Given the description of an element on the screen output the (x, y) to click on. 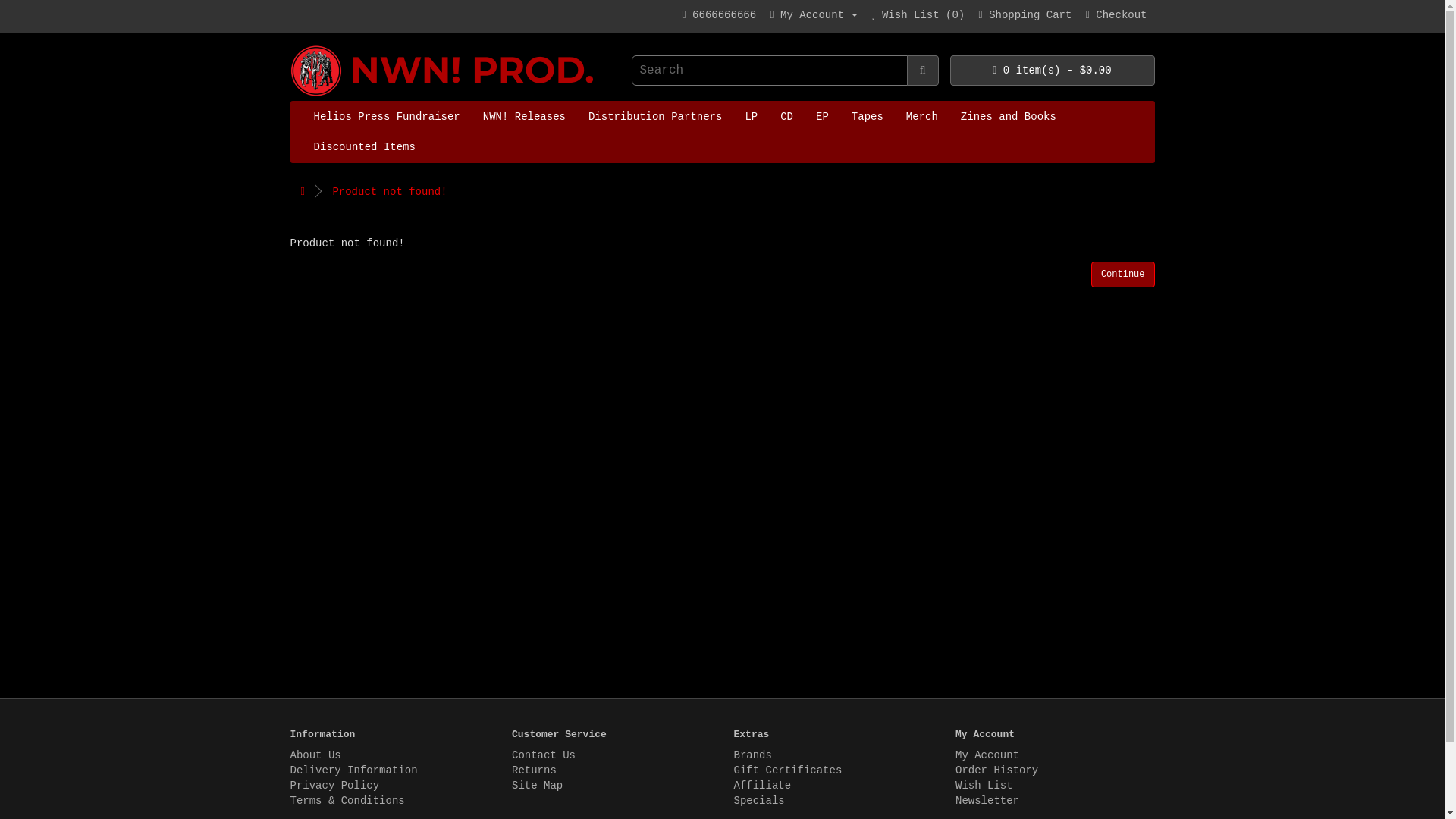
NWN! Productions (442, 74)
Checkout (1116, 15)
Helios Press Fundraiser (385, 116)
Shopping Cart (1024, 15)
Zines and Books (1008, 116)
Tapes (867, 116)
My Account (814, 15)
Shopping Cart (1024, 15)
CD (786, 116)
Distribution Partners (654, 116)
Checkout (1116, 15)
Merch (922, 116)
LP (750, 116)
Discounted Items (363, 146)
My Account (814, 15)
